Given the description of an element on the screen output the (x, y) to click on. 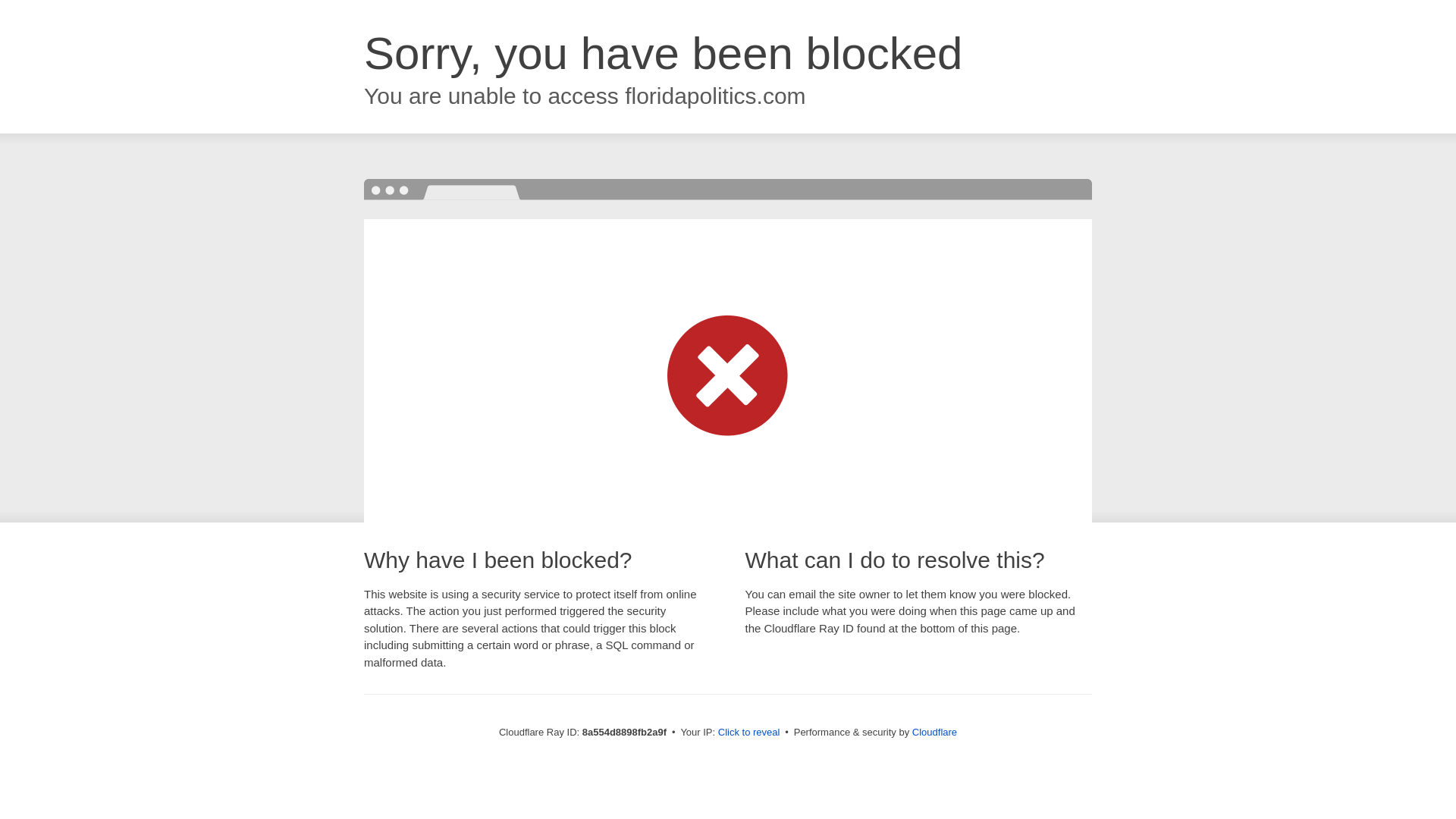
Click to reveal (748, 732)
Cloudflare (934, 731)
